Given the description of an element on the screen output the (x, y) to click on. 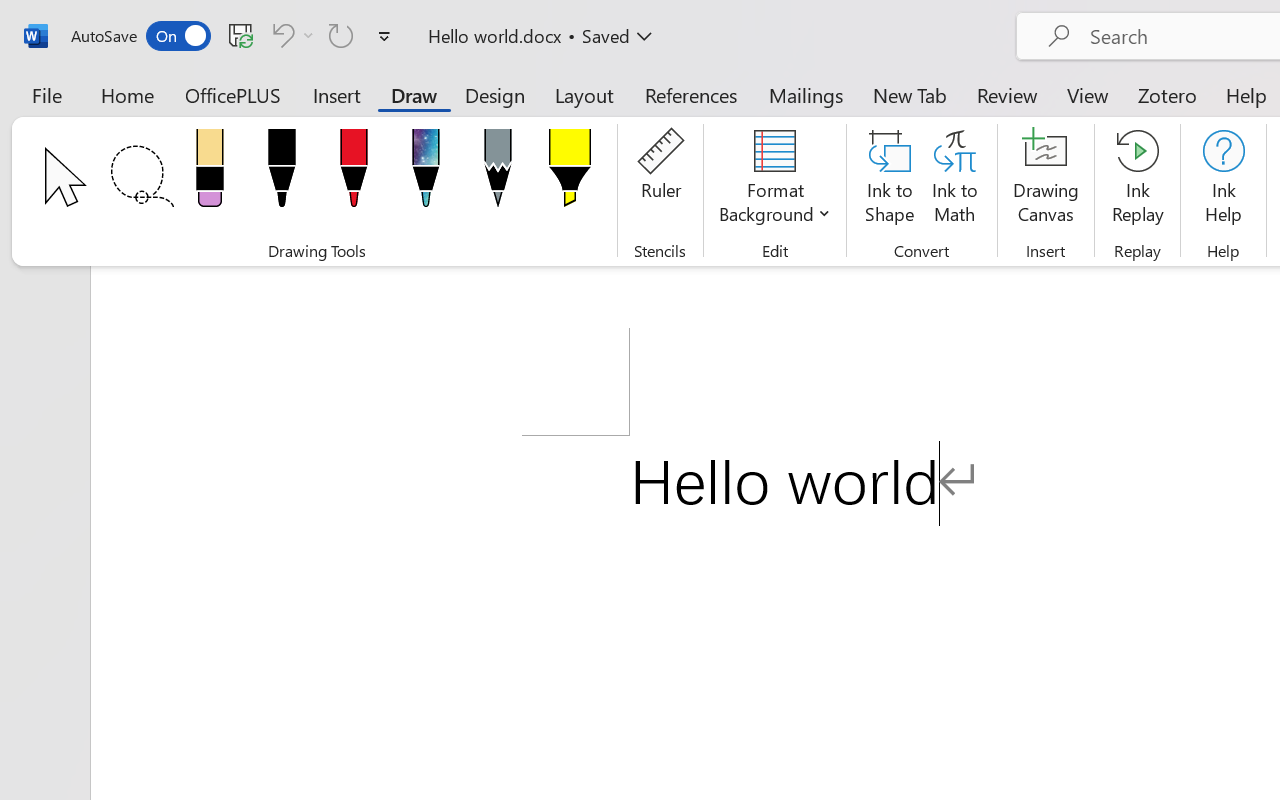
Ink to Math (954, 179)
Save (241, 35)
Ruler (660, 179)
Ink Replay (1137, 179)
Format Background (774, 179)
Pen: Galaxy, 1 mm (426, 173)
Ink Help (1223, 179)
More Options (308, 35)
